Given the description of an element on the screen output the (x, y) to click on. 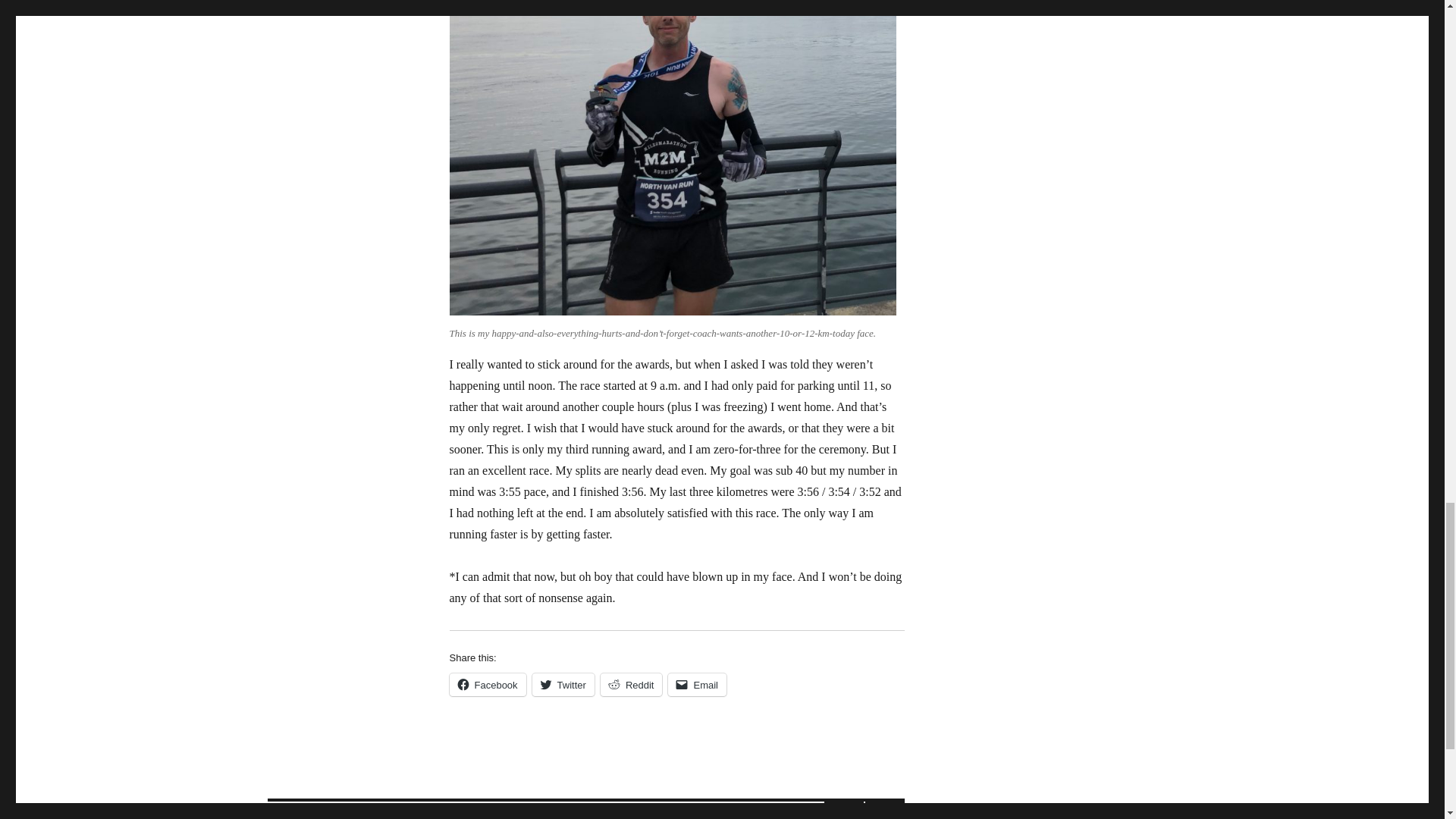
Reddit (630, 684)
Click to share on Twitter (563, 684)
NEXT PAGE (884, 810)
Click to email a link to a friend (697, 684)
Click to share on Reddit (630, 684)
Click to share on Facebook (338, 810)
Email (486, 684)
Facebook (304, 810)
Twitter (697, 684)
